Given the description of an element on the screen output the (x, y) to click on. 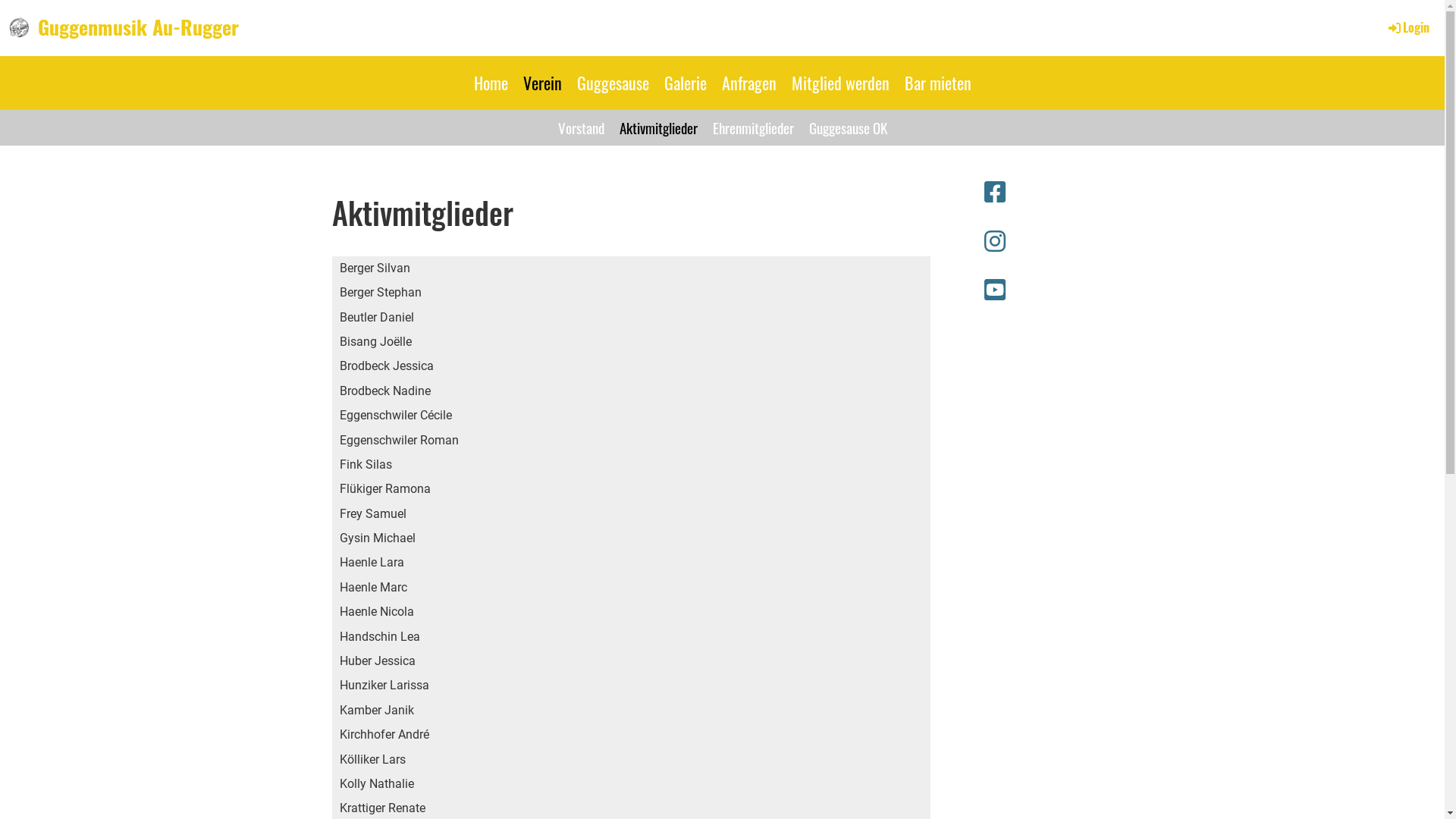
Berger Stephan Element type: text (631, 292)
Verein Element type: text (542, 82)
Frey Samuel Element type: text (631, 514)
Kolly Nathalie Element type: text (631, 783)
Ehrenmitglieder Element type: text (753, 127)
Haenle Nicola Element type: text (631, 611)
Haenle Marc Element type: text (631, 587)
Anfragen Element type: text (749, 82)
Berger Silvan Element type: text (631, 268)
Brodbeck Nadine Element type: text (631, 391)
Handschin Lea Element type: text (631, 636)
Guggesause OK Element type: text (847, 127)
Eggenschwiler Roman Element type: text (631, 440)
Brodbeck Jessica Element type: text (631, 366)
Hunziker Larissa Element type: text (631, 685)
Beutler Daniel Element type: text (631, 317)
Fink Silas Element type: text (631, 464)
Guggesause Element type: text (611, 82)
Vorstand Element type: text (580, 127)
Gysin Michael Element type: text (631, 538)
Home Element type: text (489, 82)
Mitglied werden Element type: text (840, 82)
Bar mieten Element type: text (937, 82)
Aktivmitglieder Element type: text (657, 127)
Guggenmusik Au-Rugger Element type: text (137, 26)
Login Element type: text (1407, 27)
Kamber Janik Element type: text (631, 710)
Galerie Element type: text (685, 82)
Huber Jessica Element type: text (631, 661)
Haenle Lara Element type: text (631, 562)
